Given the description of an element on the screen output the (x, y) to click on. 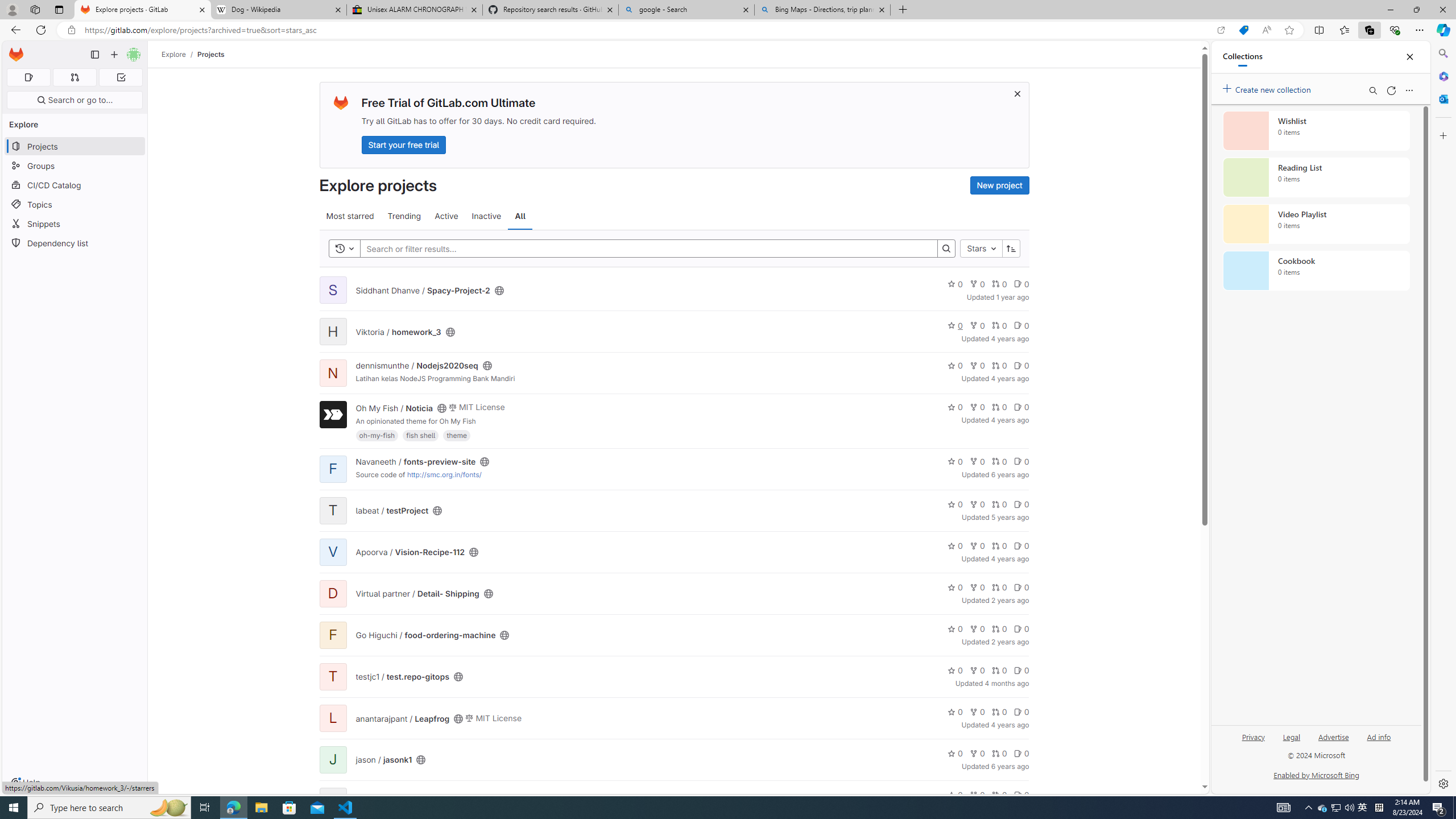
Skip to main content (13, 49)
http://smc.org.in/fonts/ (443, 474)
Toggle history (344, 248)
Oh My Fish / Noticia (393, 407)
Snippets (74, 223)
All (520, 216)
Jjason / jasonk10000Updated 6 years ago (673, 759)
Active (446, 216)
Projects (211, 53)
Most starred (349, 216)
Outlook (1442, 98)
